Given the description of an element on the screen output the (x, y) to click on. 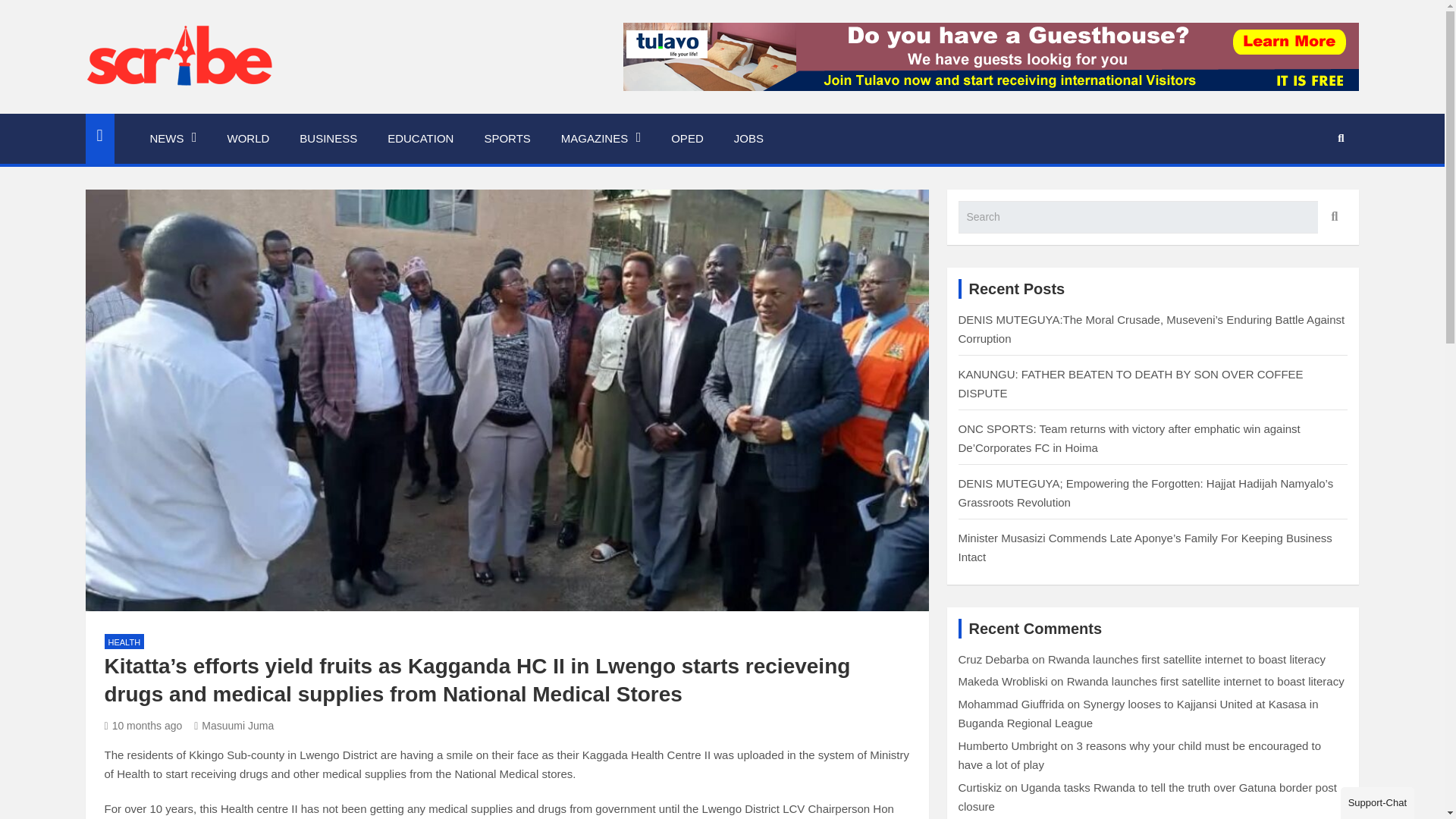
BUSINESS (327, 138)
HEALTH (124, 641)
The Scribe Uganda (221, 110)
OPED (687, 138)
JOBS (748, 138)
Masuumi Juma (233, 725)
10 months ago (143, 725)
EDUCATION (420, 138)
MAGAZINES (601, 138)
SPORTS (506, 138)
WORLD (248, 138)
NEWS (173, 138)
